Given the description of an element on the screen output the (x, y) to click on. 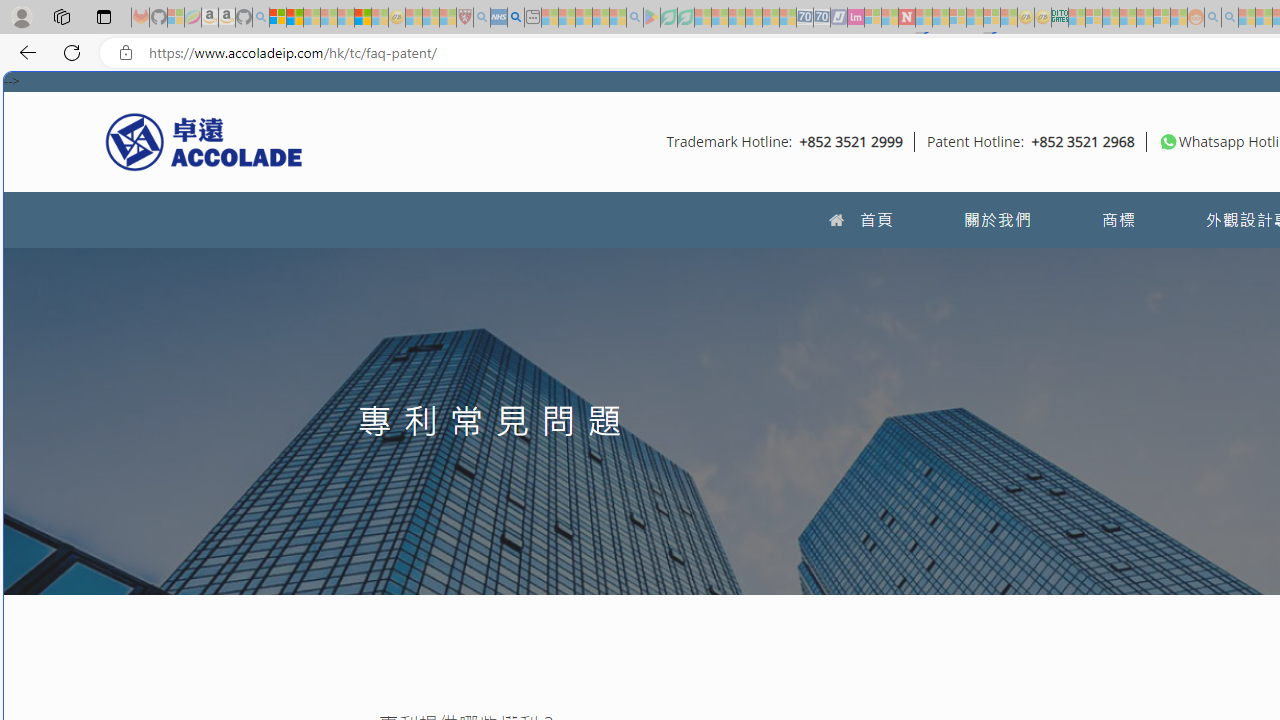
Accolade IP HK Logo (203, 141)
